Given the description of an element on the screen output the (x, y) to click on. 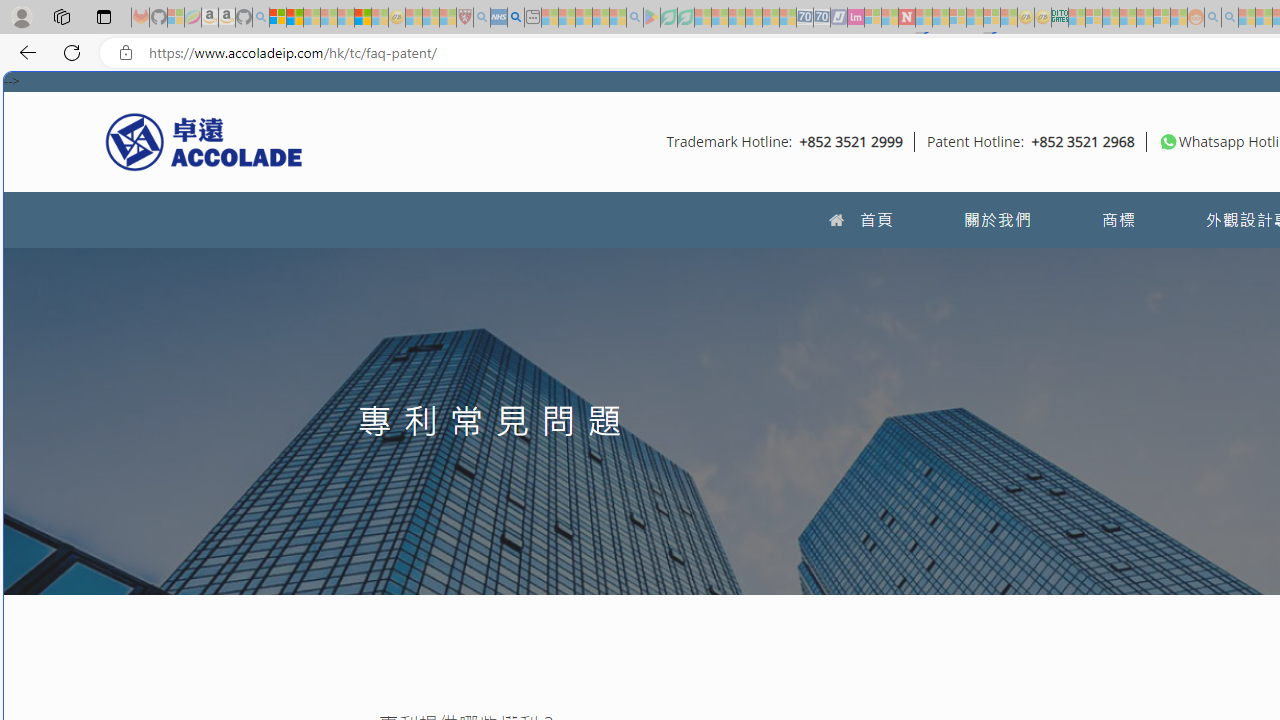
Accolade IP HK Logo (203, 141)
